Given the description of an element on the screen output the (x, y) to click on. 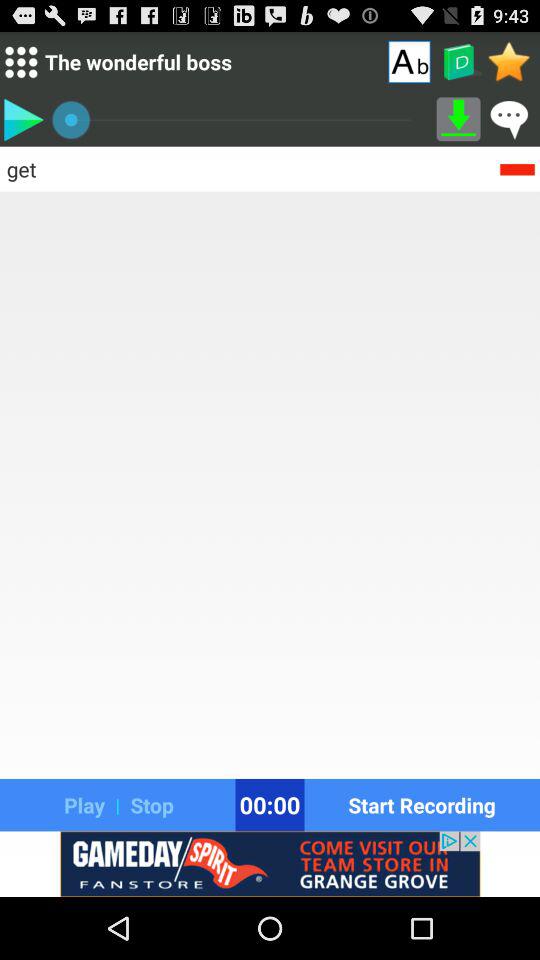
undo listed word (517, 168)
